Given the description of an element on the screen output the (x, y) to click on. 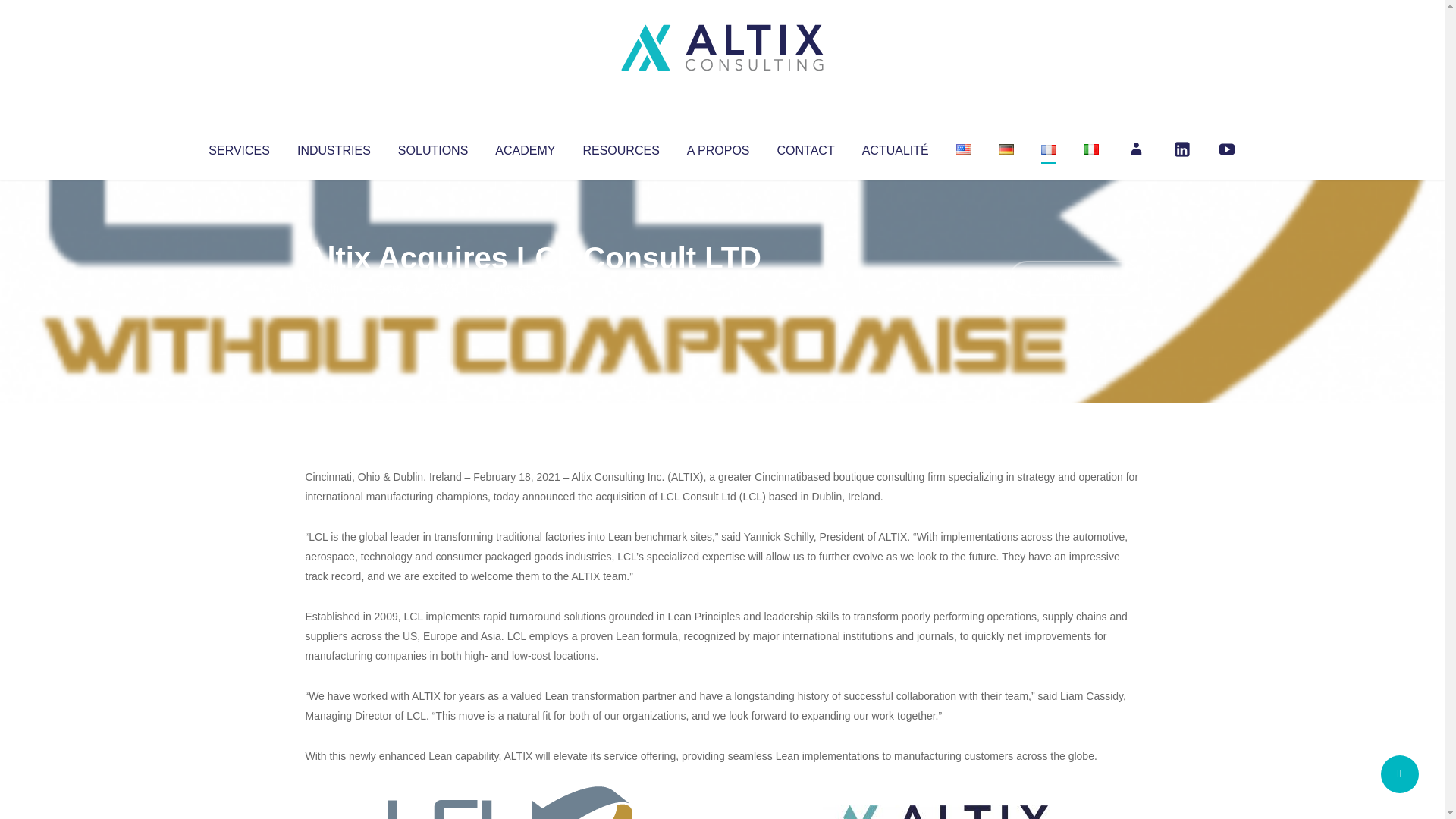
SERVICES (238, 146)
Articles par Altix (333, 287)
A PROPOS (718, 146)
No Comments (1073, 278)
RESOURCES (620, 146)
INDUSTRIES (334, 146)
Uncategorized (530, 287)
SOLUTIONS (432, 146)
Altix (333, 287)
ACADEMY (524, 146)
